Given the description of an element on the screen output the (x, y) to click on. 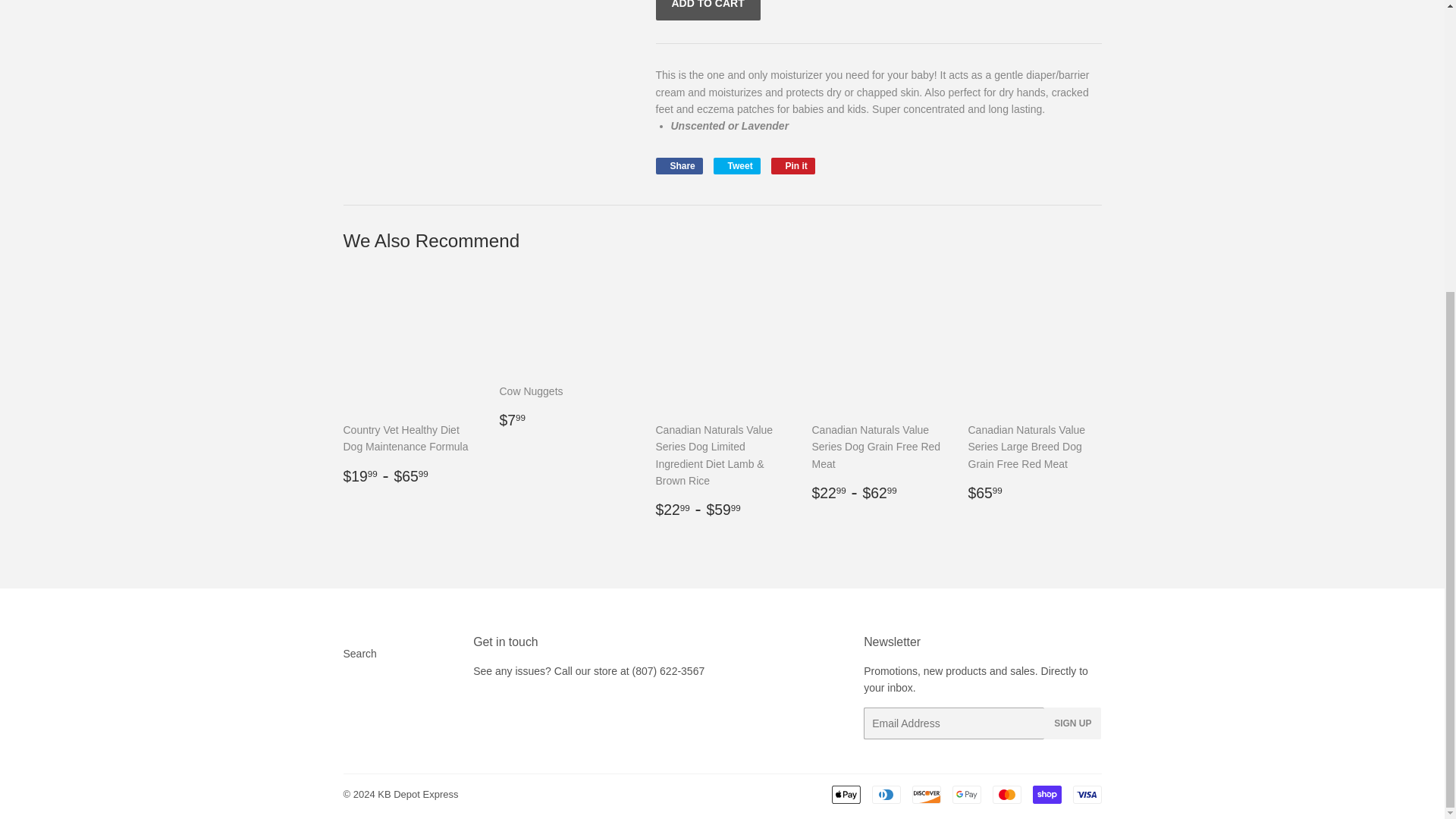
Tweet on Twitter (736, 166)
Mastercard (1005, 794)
Pin on Pinterest (793, 166)
Visa (1085, 794)
Discover (925, 794)
Shop Pay (1046, 794)
Share on Facebook (678, 166)
Google Pay (966, 794)
Apple Pay (845, 794)
Diners Club (886, 794)
